Given the description of an element on the screen output the (x, y) to click on. 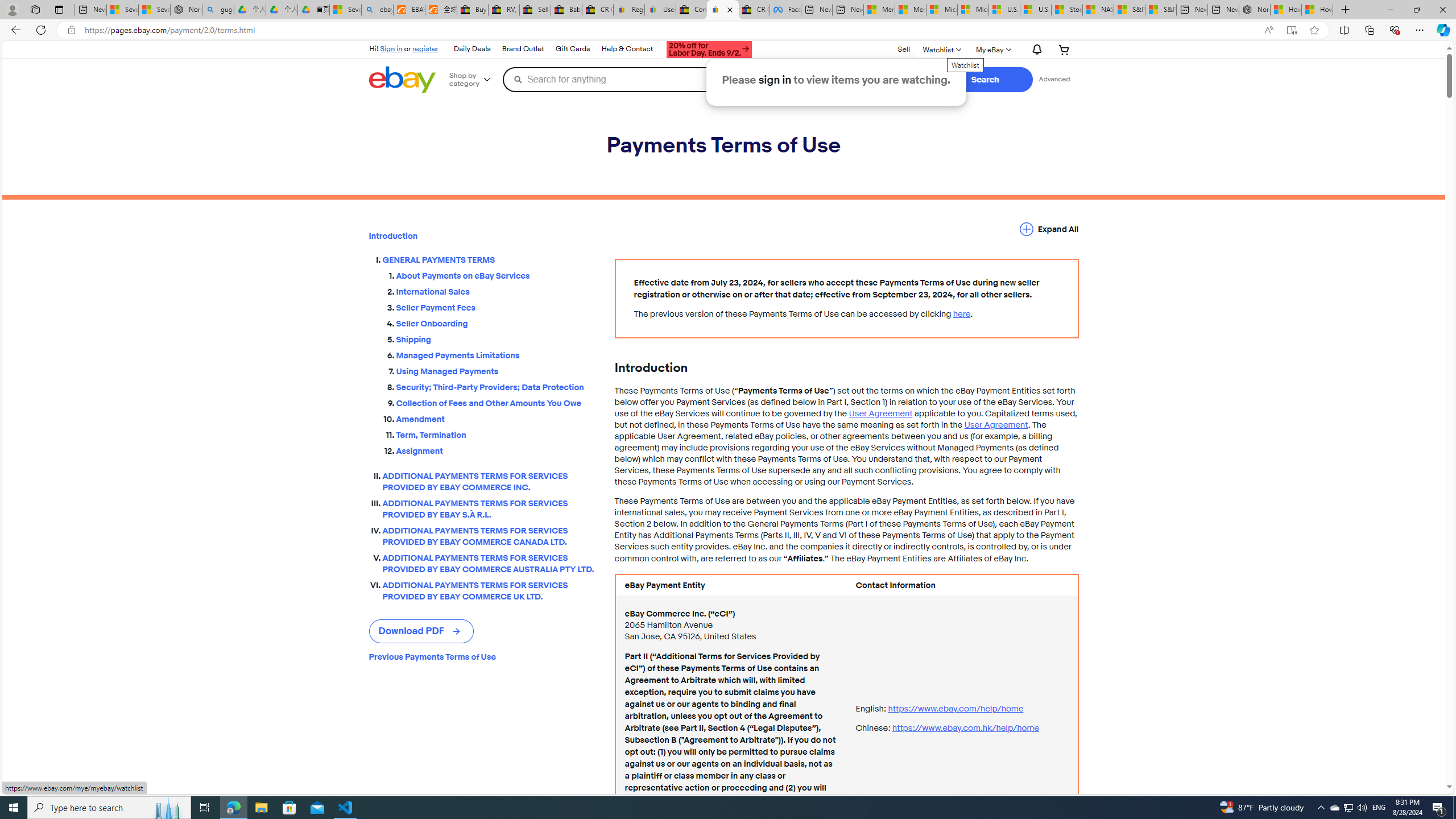
RV, Trailer & Camper Steps & Ladders for sale | eBay (503, 9)
Search for anything (670, 78)
Shop by category (473, 79)
International Sales (496, 291)
Amendment (496, 416)
Enter Immersive Reader (F9) (1291, 29)
Term, Termination (496, 433)
Assignment (496, 448)
Using Managed Payments (496, 371)
GENERAL PAYMENTS TERMS (488, 259)
Get the coupon now (709, 49)
Gift Cards (571, 49)
Introduction (482, 236)
